Given the description of an element on the screen output the (x, y) to click on. 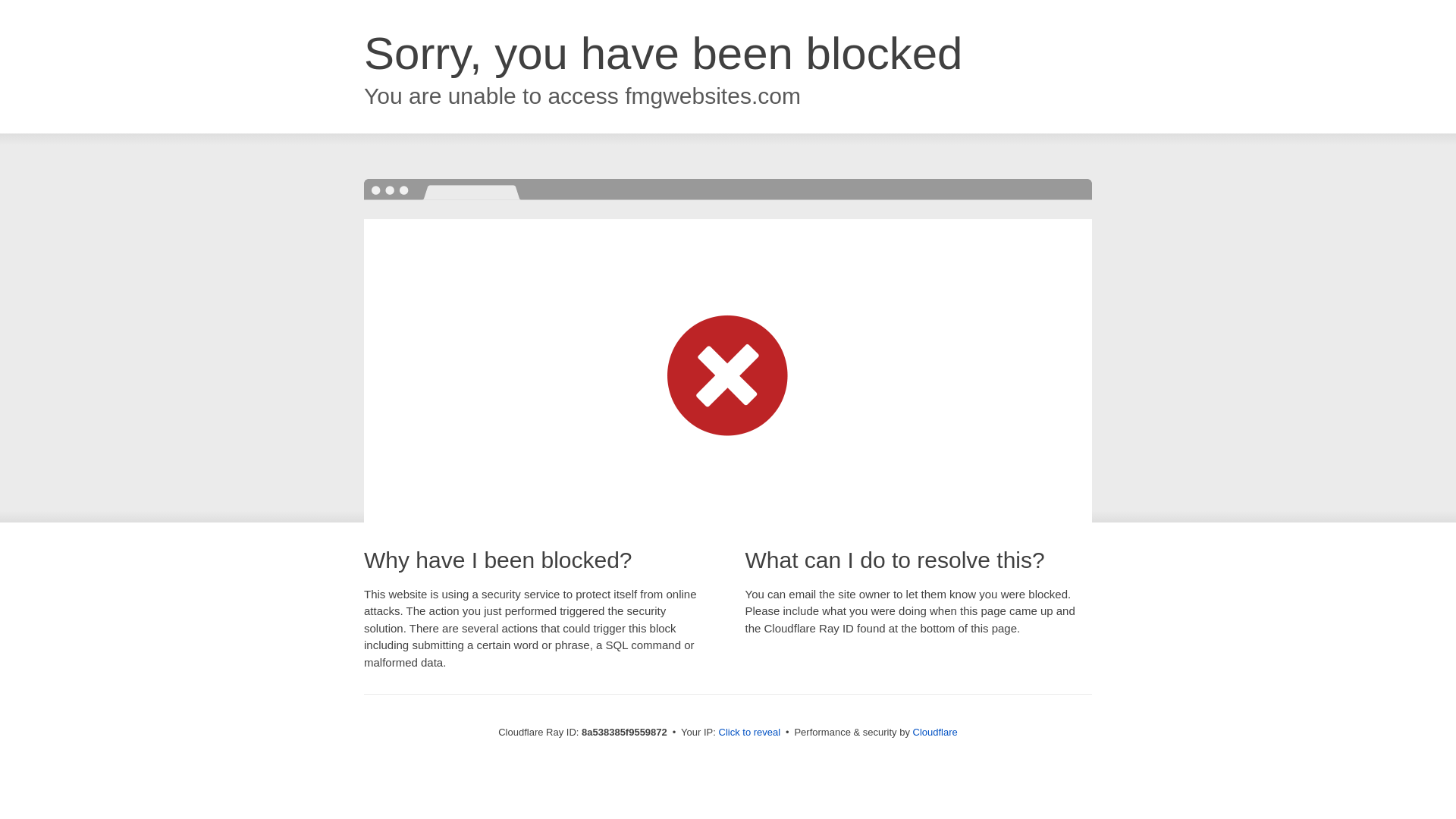
Cloudflare (935, 731)
Click to reveal (749, 732)
